Given the description of an element on the screen output the (x, y) to click on. 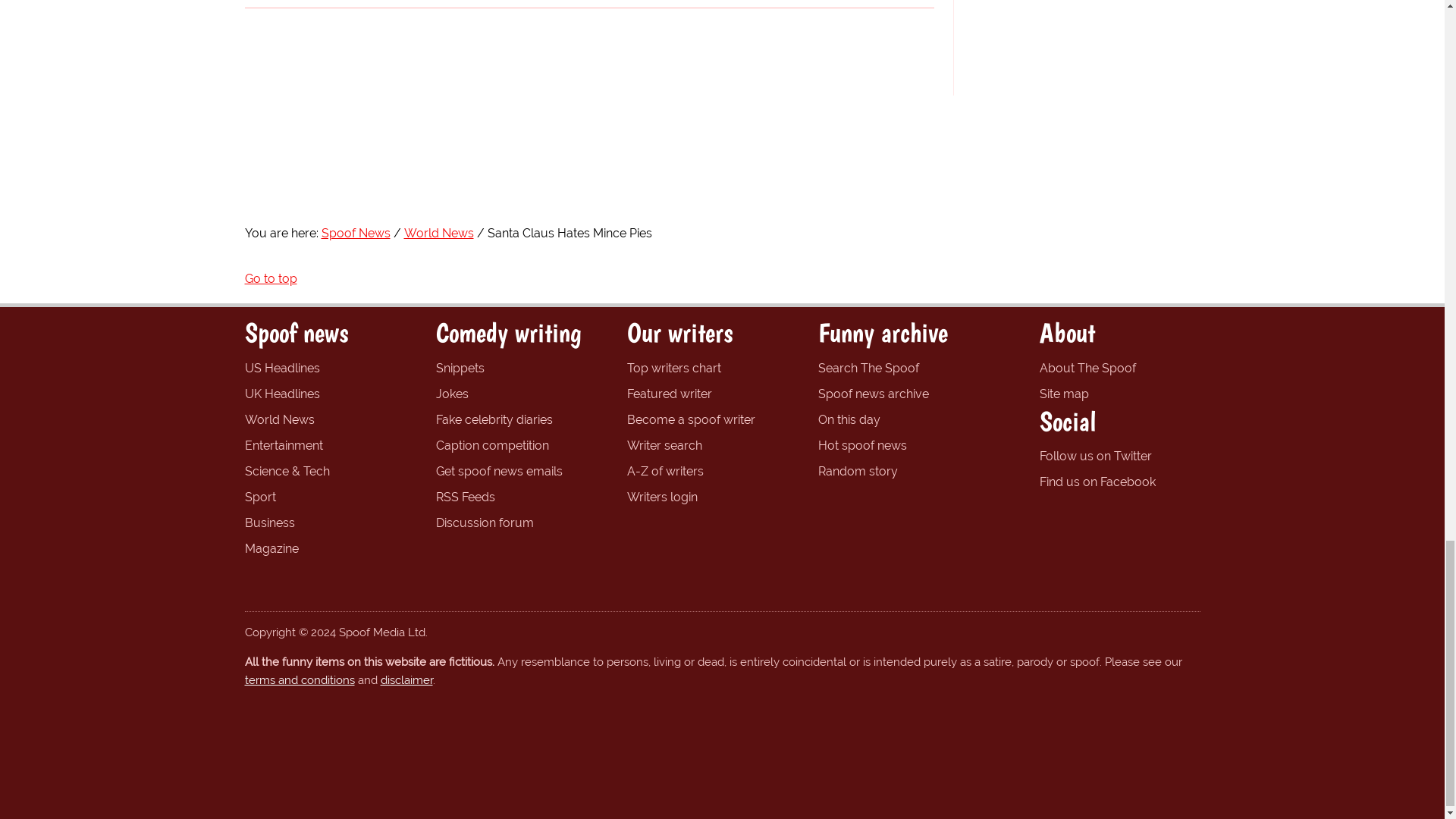
Advertisement (721, 153)
Advertisement (1085, 43)
